Given the description of an element on the screen output the (x, y) to click on. 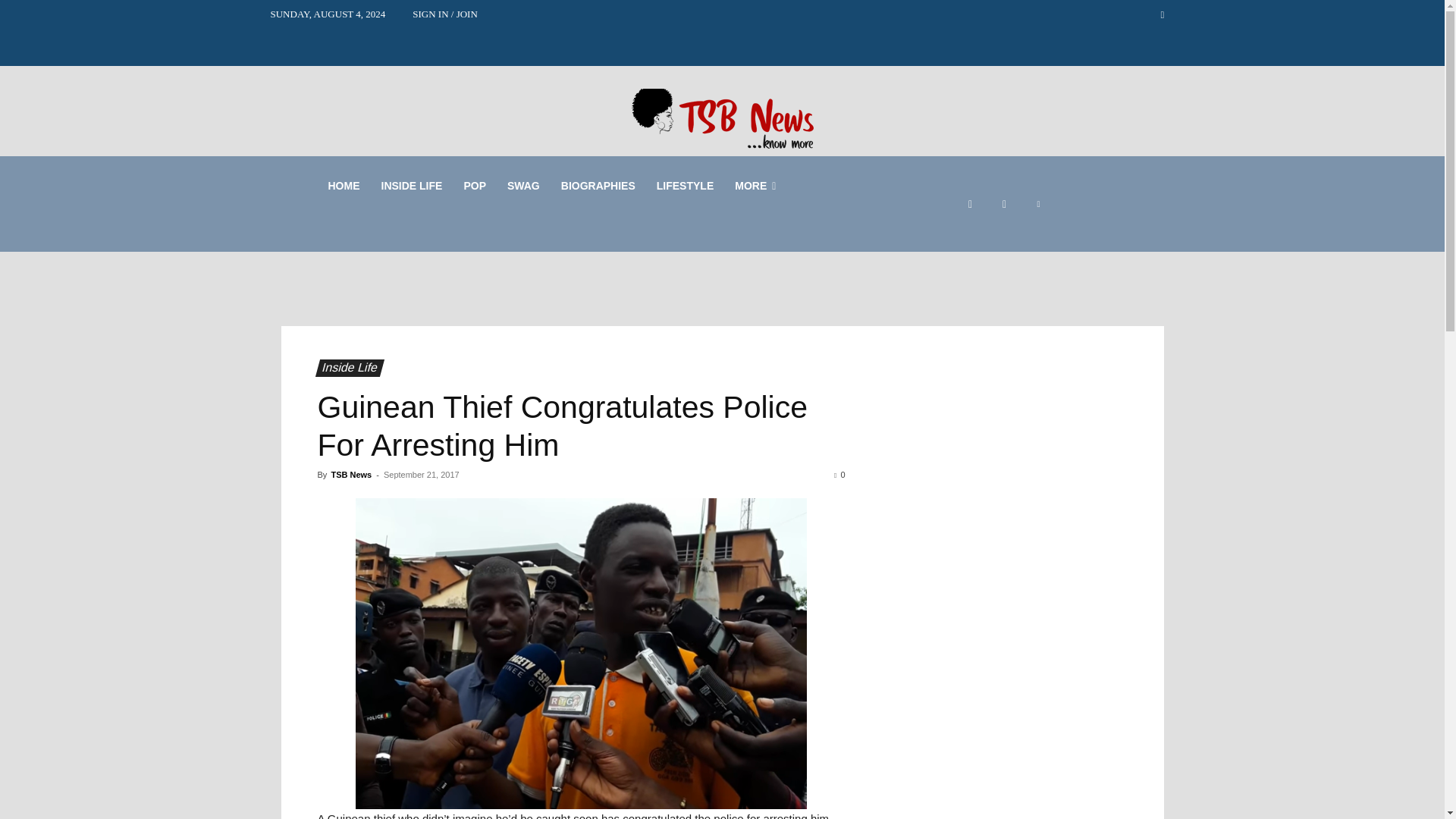
Facebook (970, 203)
HOME (343, 185)
Inside Life (346, 367)
INSIDE LIFE (410, 185)
Style (523, 185)
POP (474, 185)
BIOGRAPHIES (598, 185)
SWAG (523, 185)
News as it Breaks (410, 185)
